Given the description of an element on the screen output the (x, y) to click on. 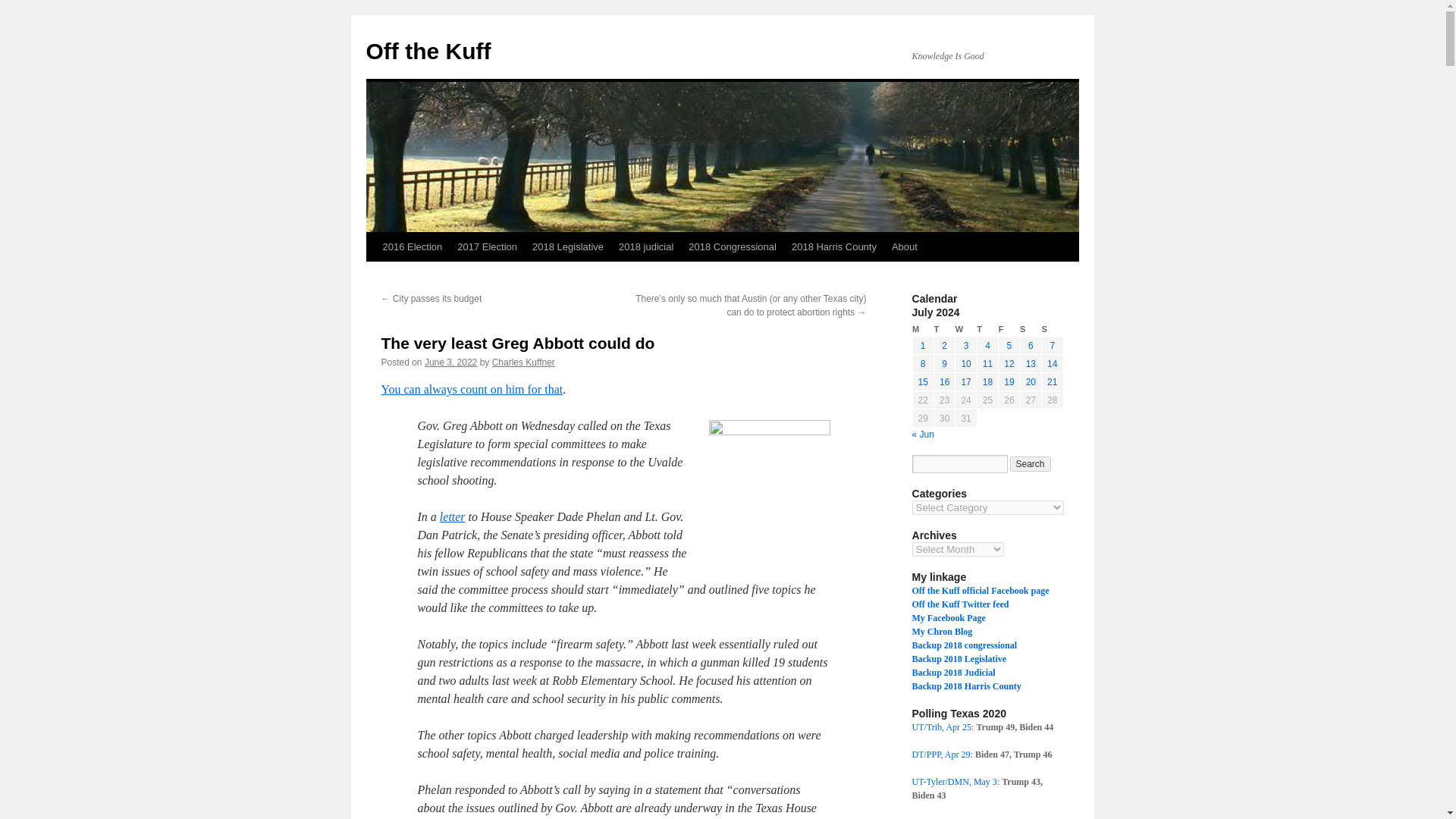
2017 Election (486, 246)
You can always count on him for that (471, 389)
Charles Kuffner (523, 362)
View all posts by Charles Kuffner (523, 362)
Search (1030, 463)
2016 Election (411, 246)
About (903, 246)
Monday (922, 329)
5:01 am (451, 362)
Off the Kuff (427, 50)
2018 Congressional (732, 246)
Tuesday (944, 329)
Friday (1009, 329)
Saturday (1030, 329)
letter (452, 516)
